Given the description of an element on the screen output the (x, y) to click on. 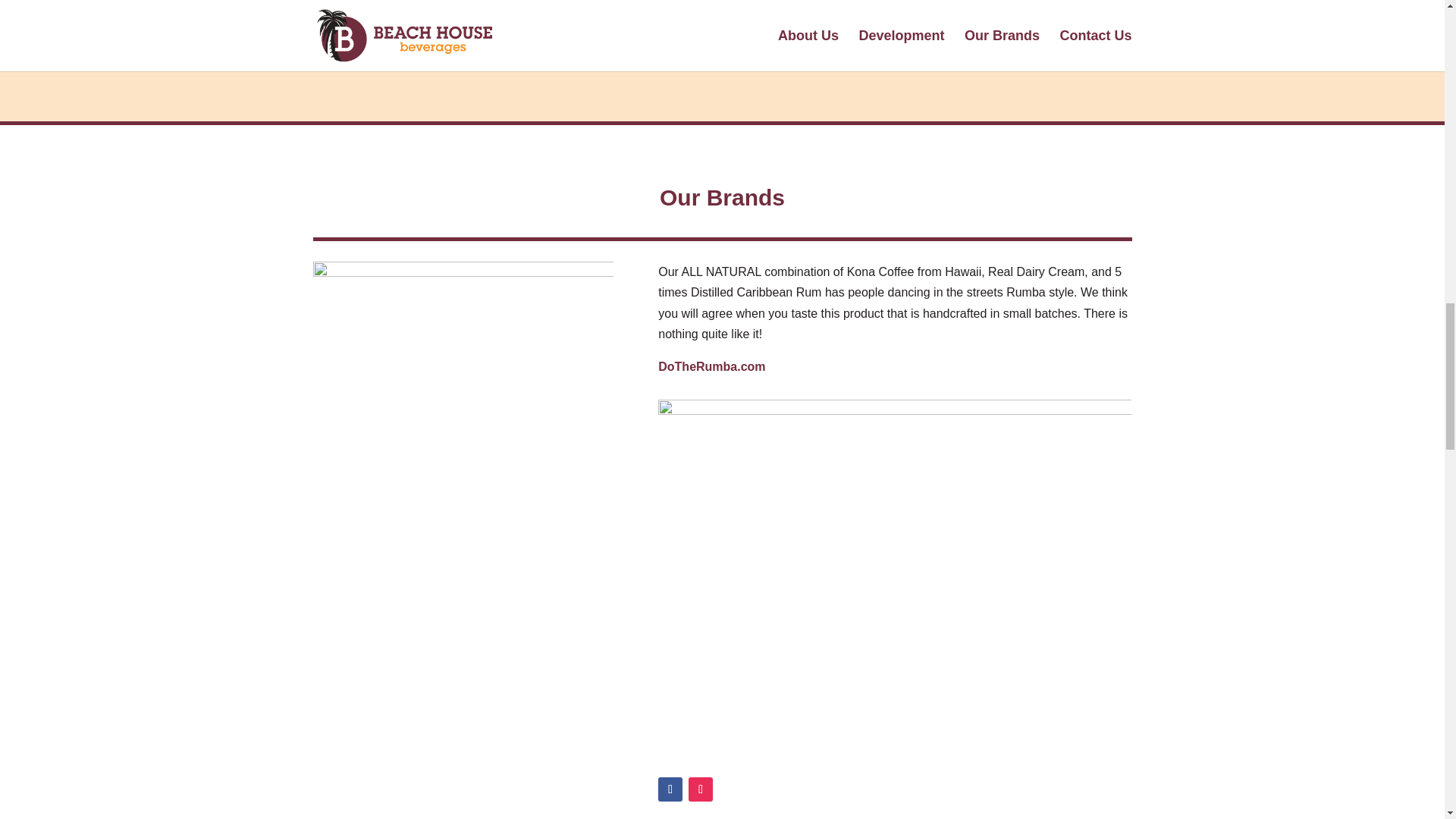
DoTheRumba.com (711, 366)
Follow on Facebook (670, 789)
Follow on Instagram (700, 789)
